Given the description of an element on the screen output the (x, y) to click on. 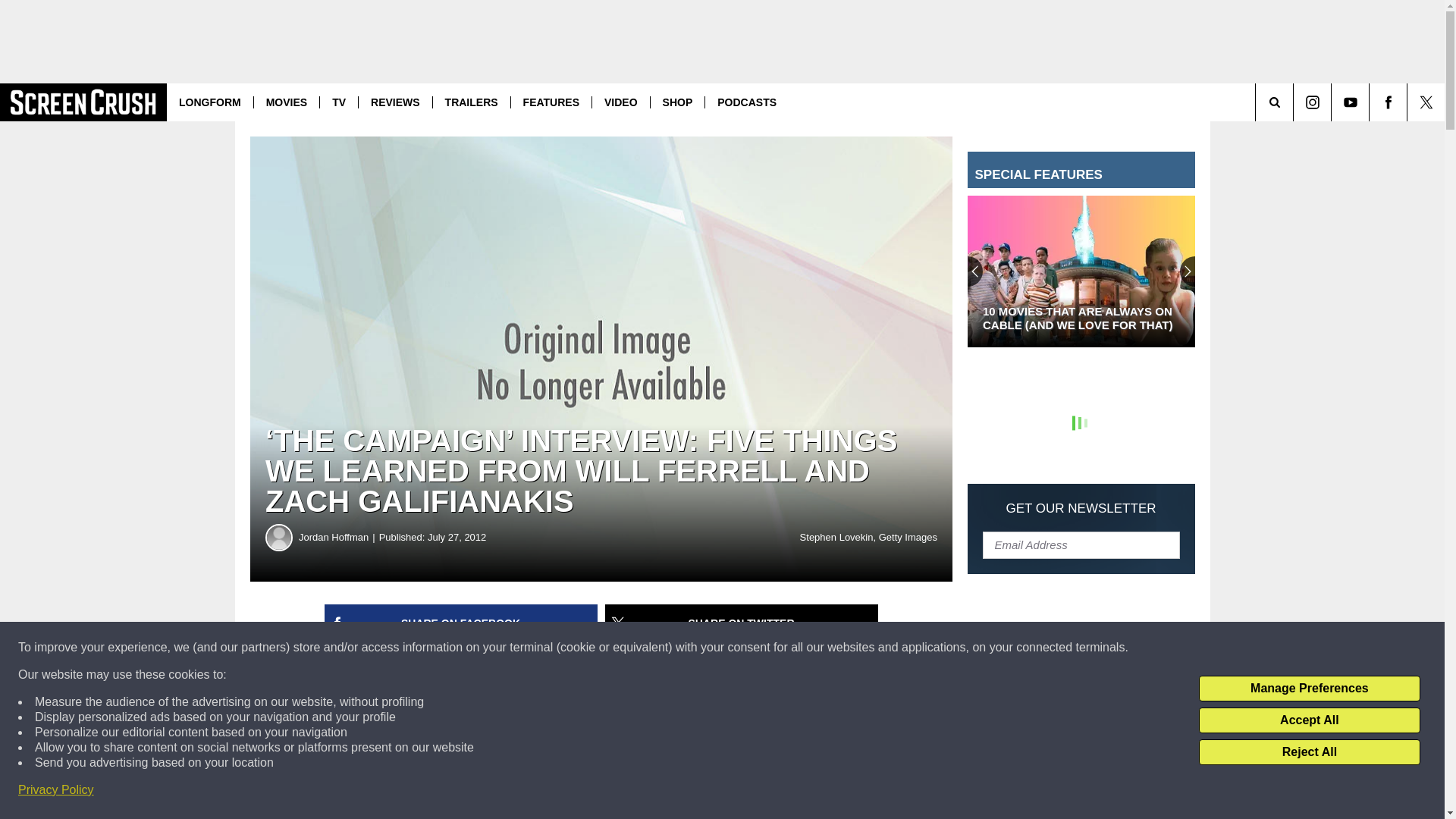
Share on Twitter (741, 623)
Reject All (1309, 751)
SEARCH (1295, 102)
FEATURES (551, 102)
Jordan Hoffman (338, 537)
SEARCH (1295, 102)
Will Ferrell (357, 749)
VIDEO (620, 102)
Zach Galifianakis (450, 749)
Email Address (1080, 543)
MOVIES (285, 102)
Visit us on Instagram (1312, 102)
Visit us on Youtube (1350, 102)
Visit us on Facebook (1388, 102)
SHARE ON TWITTER (741, 623)
